Given the description of an element on the screen output the (x, y) to click on. 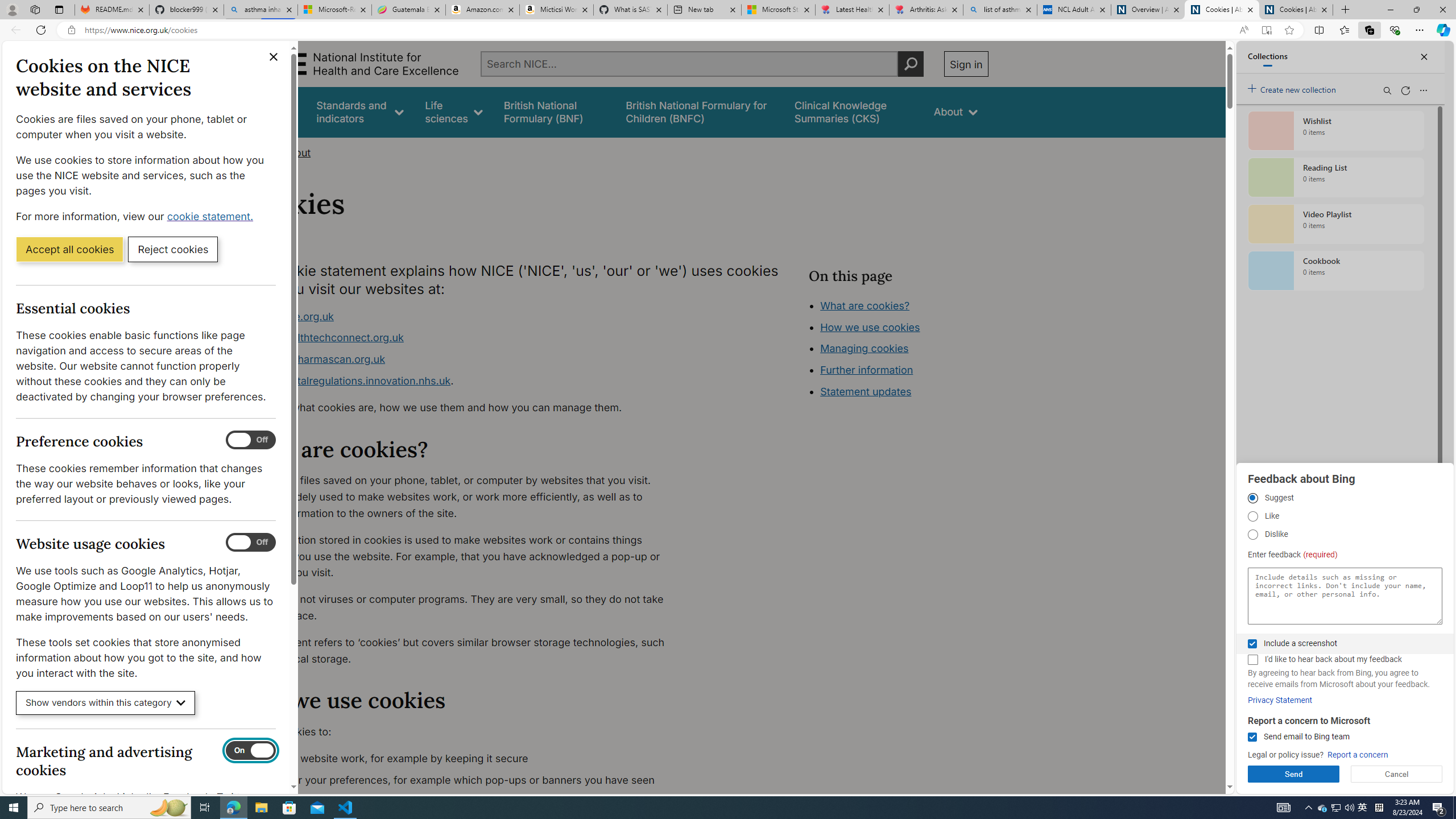
Close cookie banner (273, 56)
Marketing and advertising cookies (250, 750)
Show vendors within this category (105, 703)
Privacy Statement (1280, 700)
What are cookies? (864, 305)
Report a concern (1358, 755)
www.healthtechconnect.org.uk (464, 338)
Statement updates (865, 391)
